Given the description of an element on the screen output the (x, y) to click on. 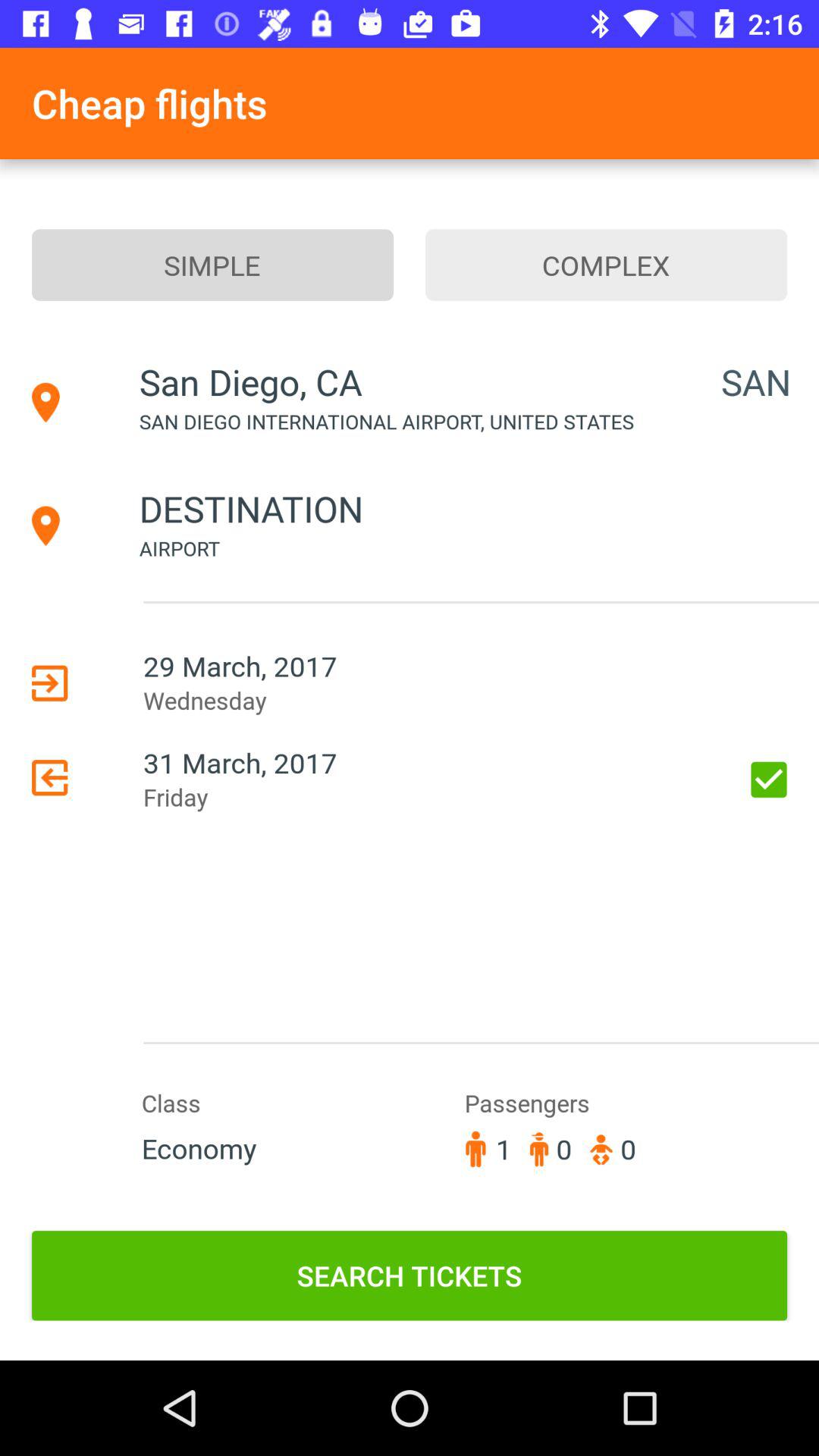
flip until simple icon (212, 264)
